Given the description of an element on the screen output the (x, y) to click on. 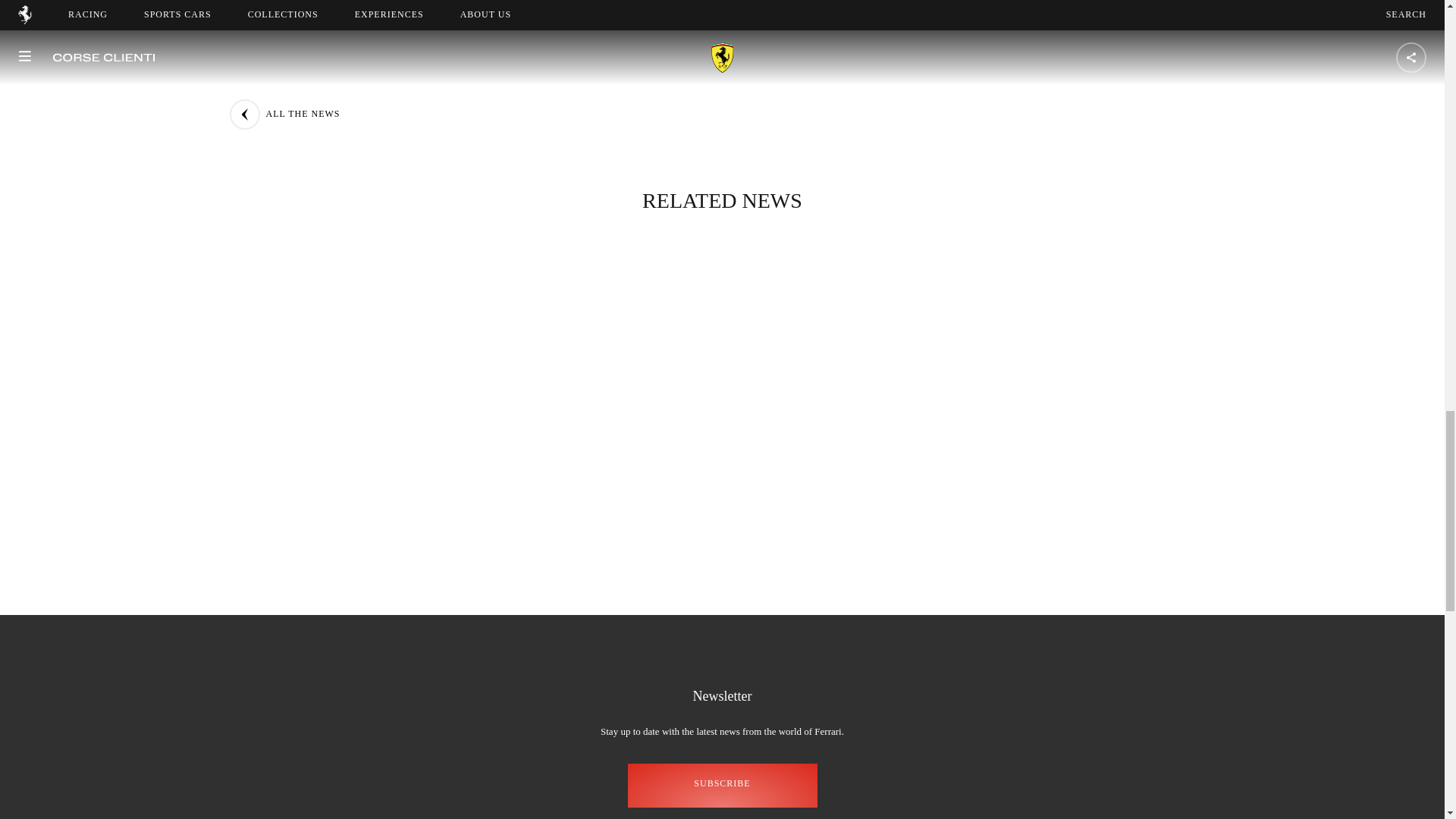
FORMULA RACING (645, 61)
JOHN WARTIQUE (783, 61)
SUBSCRIBE (721, 784)
PAUL RICARD (514, 61)
JOHNNY LAURSEN (1020, 61)
FML - D2P (899, 61)
SEASON 2022 (512, 93)
